Given the description of an element on the screen output the (x, y) to click on. 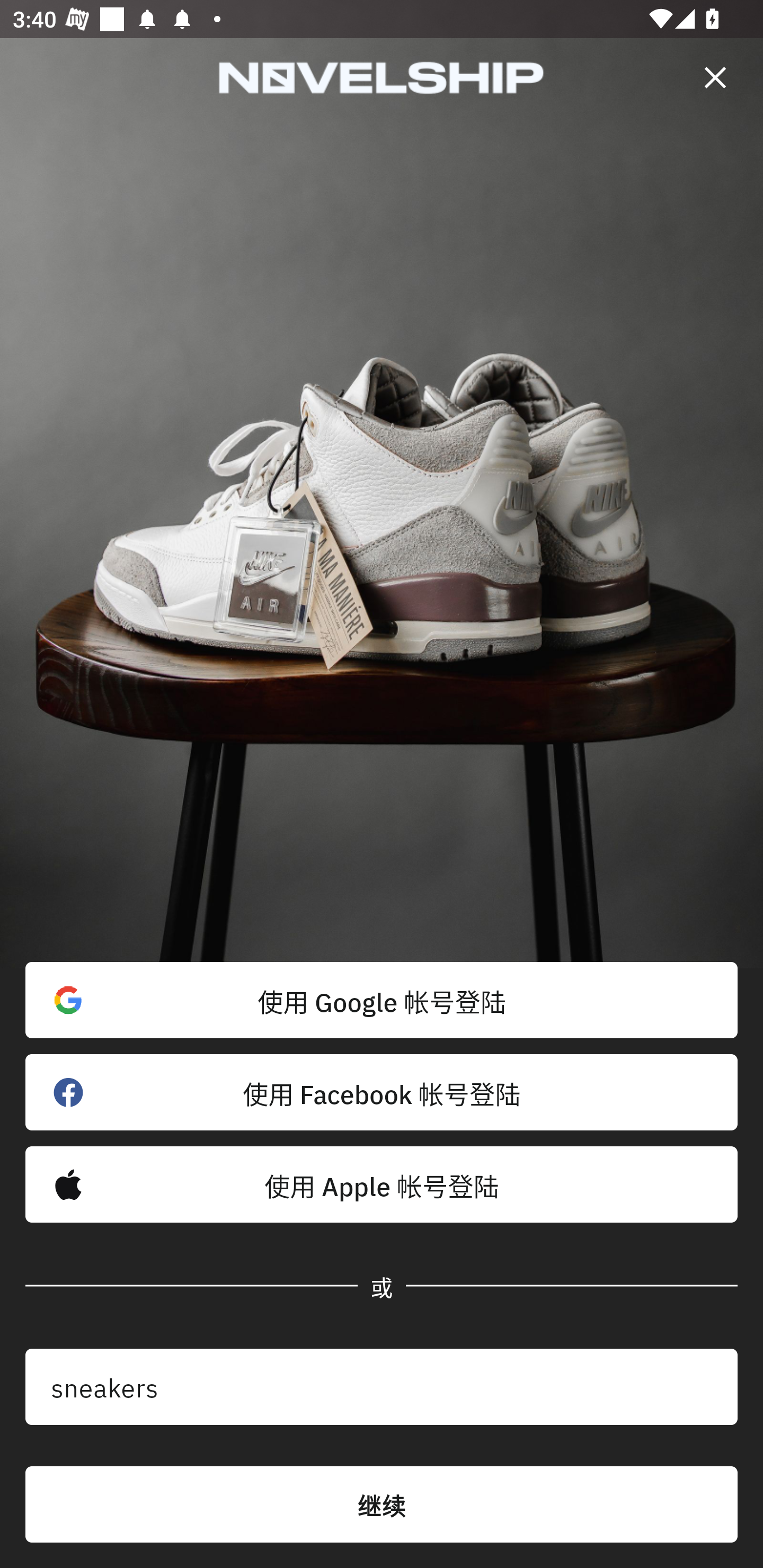
使用 Google 帐号登陆 (381, 1000)
使用 Facebook 帐号登陆 󰈌 (381, 1091)
 使用 Apple 帐号登陆 (381, 1184)
sneakers (381, 1386)
继续 (381, 1504)
